Given the description of an element on the screen output the (x, y) to click on. 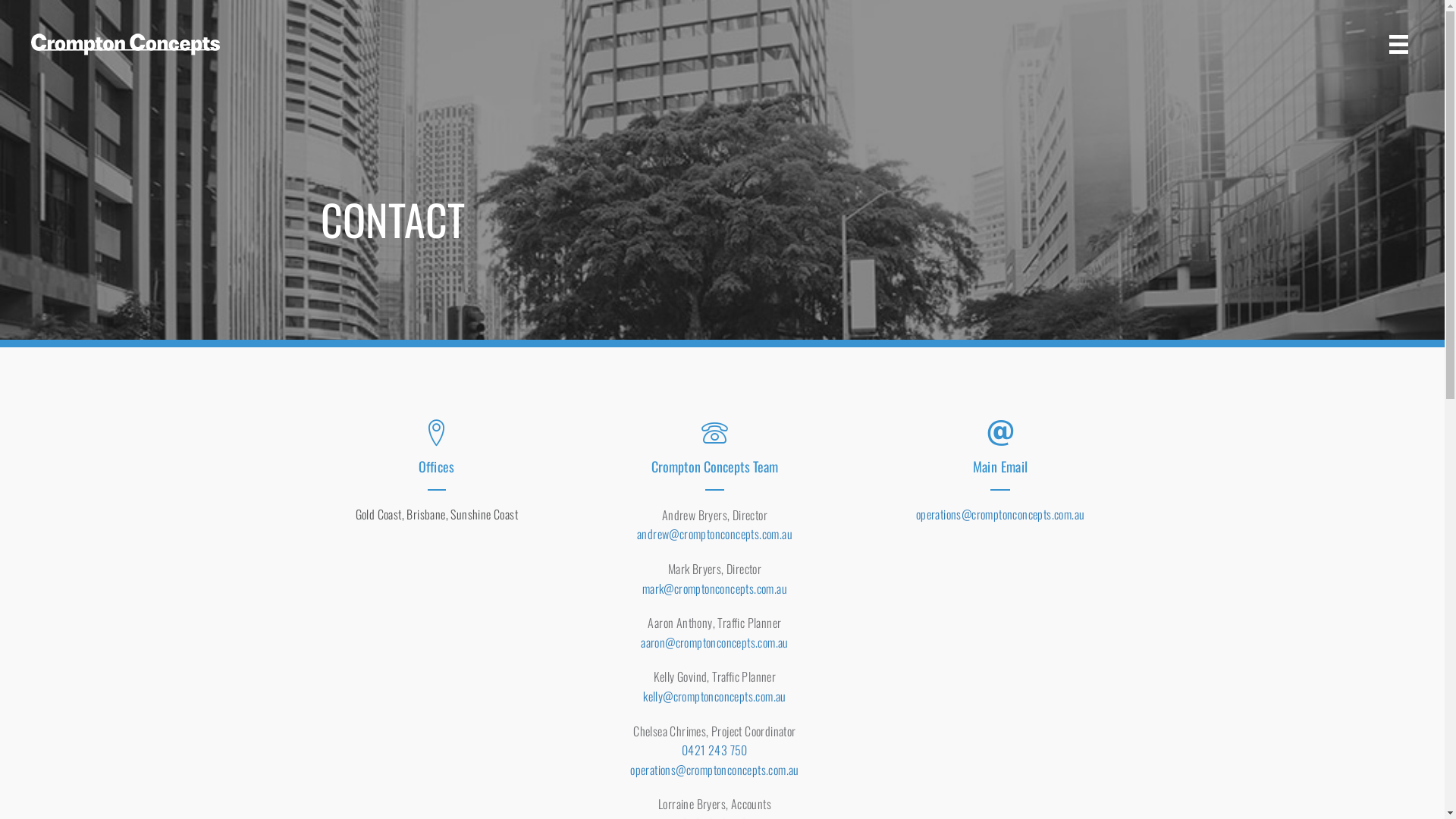
0421 243 750 Element type: text (714, 749)
kelly@cromptonconcepts.com.au Element type: text (714, 696)
Crompton-Concepts-Logo-WHITE-250px Element type: hover (124, 43)
operations@cromptonconcepts.com.au Element type: text (1000, 514)
andrew@cromptonconcepts.com.au Element type: text (714, 533)
mark@cromptonconcepts.com.au Element type: text (714, 588)
operations@cromptonconcepts.com.au Element type: text (714, 769)
aaron@cromptonconcepts.com.au Element type: text (714, 642)
